Given the description of an element on the screen output the (x, y) to click on. 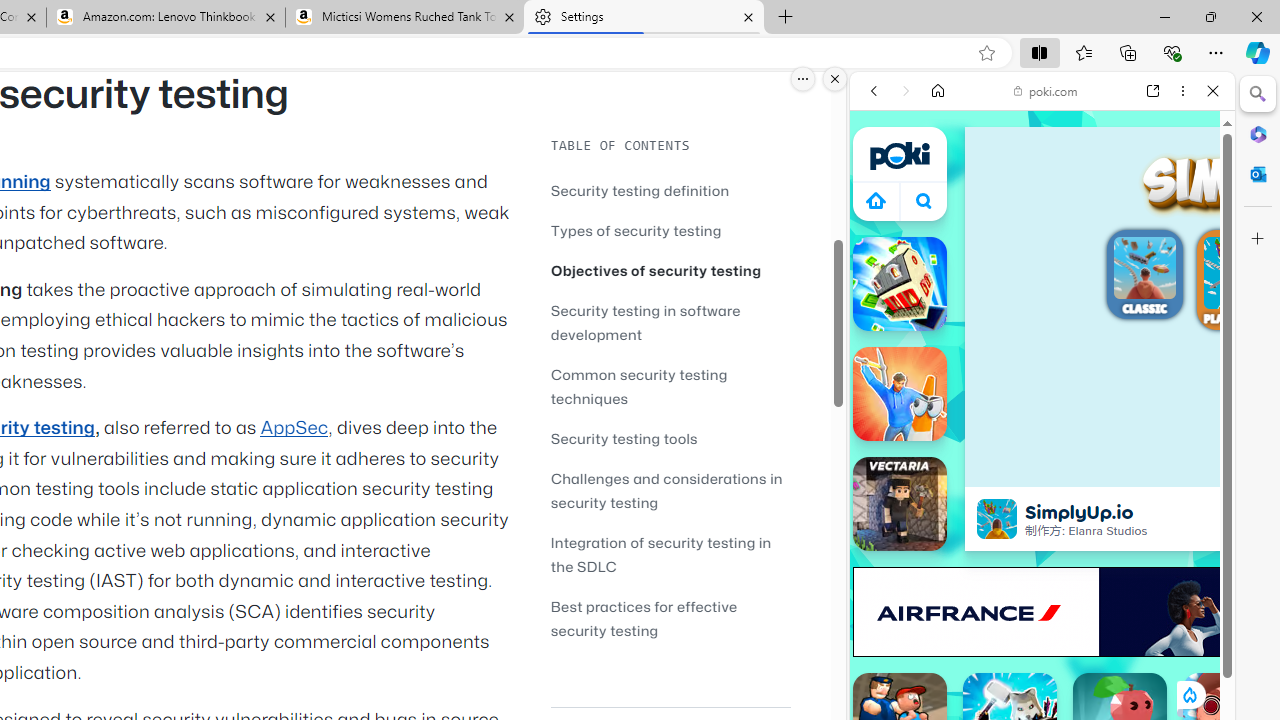
Types of security testing (635, 230)
Show More Shooting Games (1164, 521)
SimplyUp.io (996, 518)
Stack City Stack City (899, 283)
Car Games (1042, 470)
Poki - Free Online Games - Play Now! (1034, 309)
Challenges and considerations in security testing (670, 489)
Poki (1034, 288)
Security testing definition (670, 190)
